Given the description of an element on the screen output the (x, y) to click on. 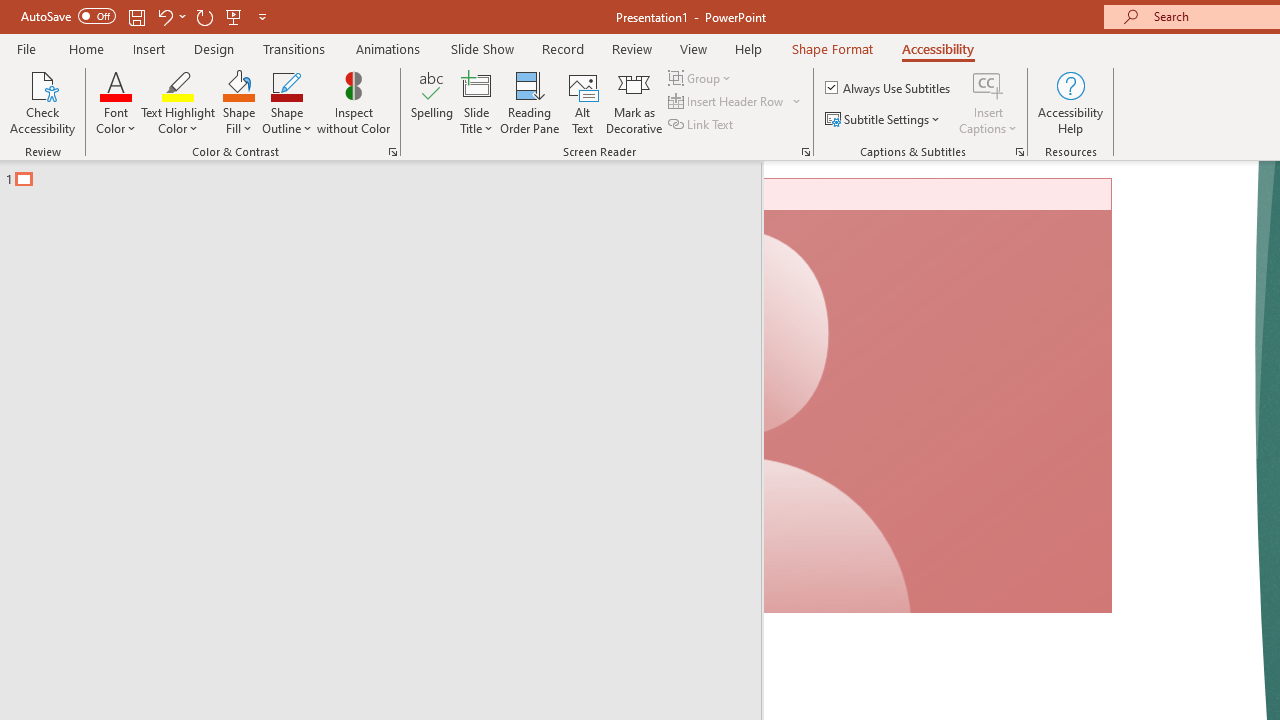
Quick Access Toolbar (233, 32)
Justify (834, 180)
Undo Typing (280, 31)
Align Right (794, 180)
New Tab (909, 84)
Bold (172, 180)
Borders (1044, 180)
Review (1007, 84)
Clear Formatting (578, 137)
Draw (413, 84)
Office Clipboard... (131, 226)
Align Left (716, 180)
Undo Typing (290, 31)
File Tab (46, 84)
